Given the description of an element on the screen output the (x, y) to click on. 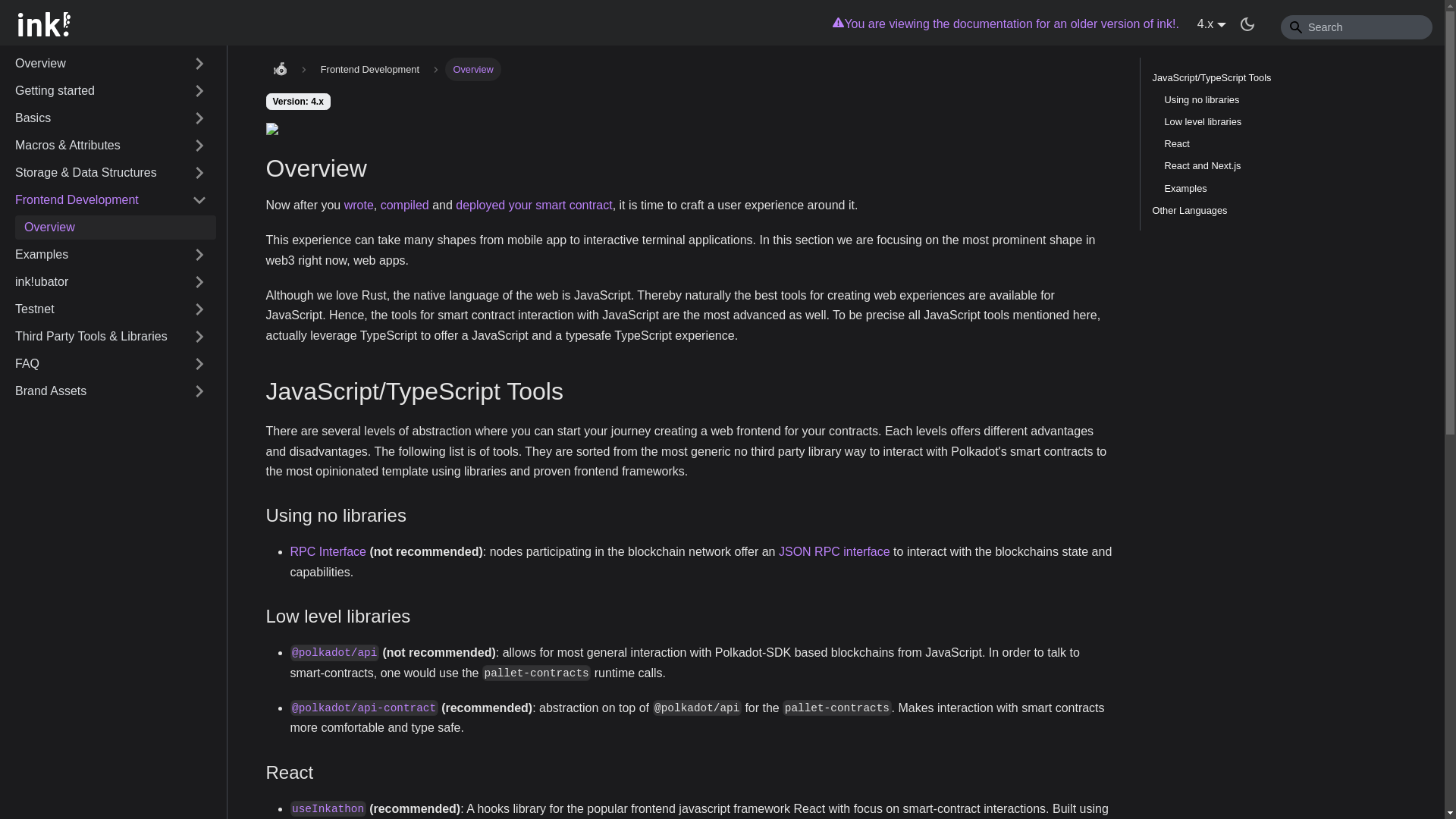
Testnet (110, 309)
FAQ (110, 363)
useInkathon (327, 808)
4.x (1210, 23)
Overview (110, 63)
ink!ubator (110, 282)
Basics (110, 118)
wrote (358, 205)
compiled (404, 205)
Examples (110, 254)
Getting started (110, 90)
Frontend Development (110, 200)
JSON RPC interface (833, 551)
RPC Interface (327, 551)
Brand Assets (110, 391)
